Given the description of an element on the screen output the (x, y) to click on. 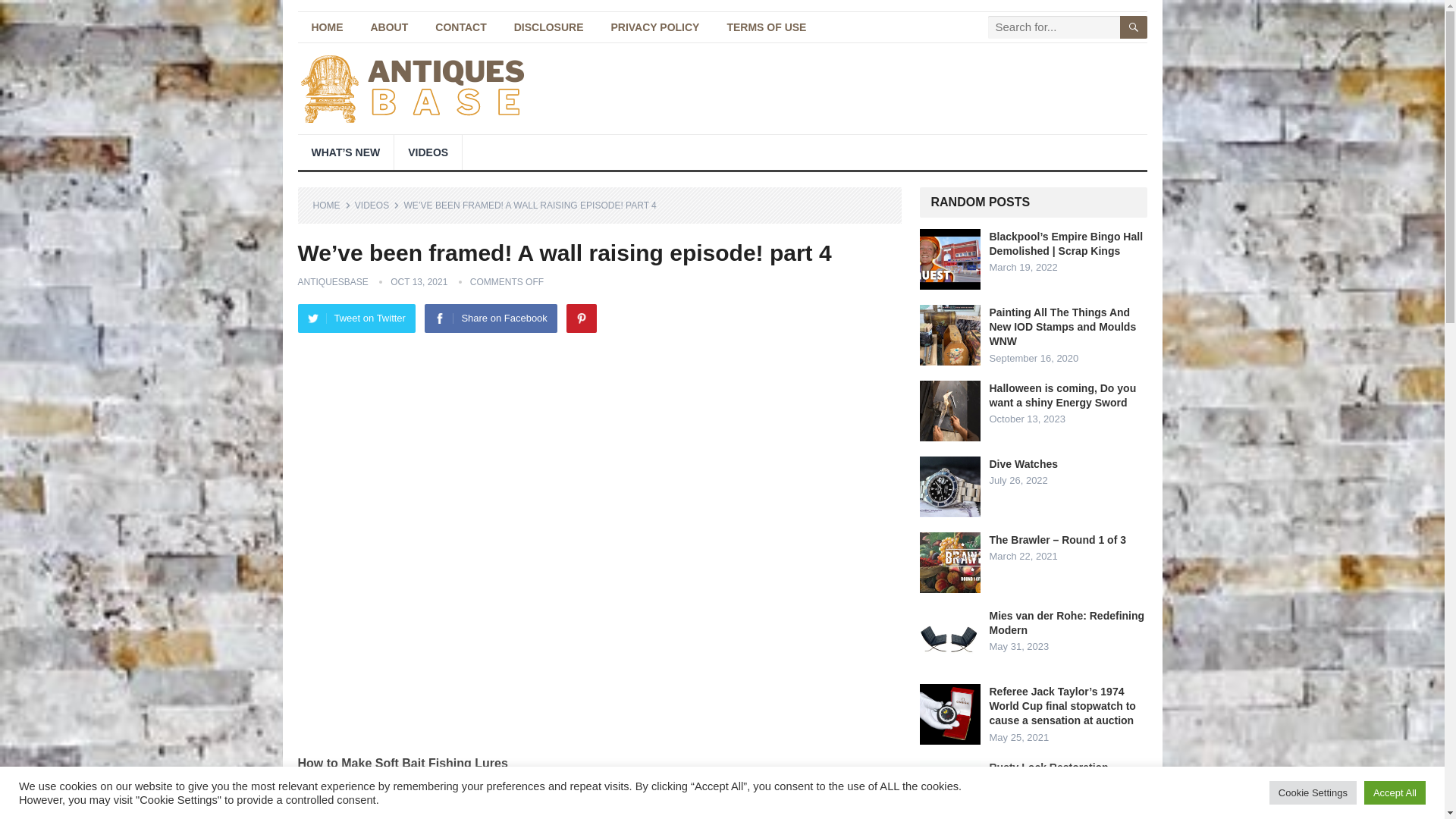
View all posts in Videos (376, 204)
Share on Facebook (490, 317)
CONTACT (460, 27)
HOME (326, 27)
Halloween is coming, Do you want a shiny Energy Sword 15 (948, 410)
Dive Watches 16 (948, 486)
DISCLOSURE (548, 27)
VIDEOS (427, 152)
Posts by antiquesbase (332, 281)
Pinterest (581, 317)
ABOUT (389, 27)
ANTIQUESBASE (332, 281)
Painting All The Things And New IOD Stamps and Moulds WNW 14 (948, 334)
Mies van der Rohe: Redefining Modern 18 (948, 638)
